Given the description of an element on the screen output the (x, y) to click on. 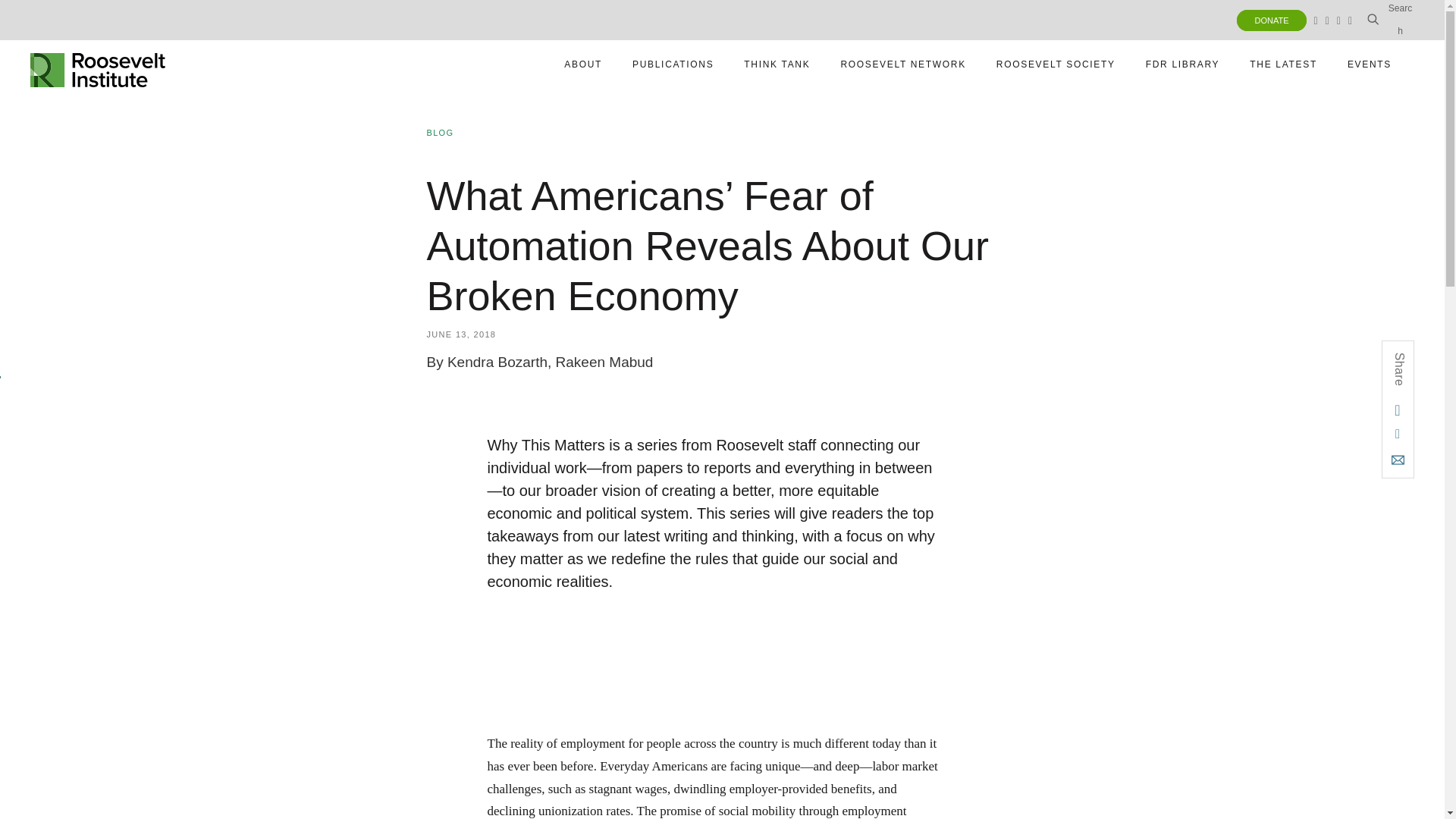
DONATE (1271, 20)
Twitter social media link (97, 64)
LinkedIn social media link (1326, 20)
ABOUT (1350, 20)
THE LATEST (583, 64)
ROOSEVELT SOCIETY (1282, 64)
ROOSEVELT NETWORK (1055, 64)
EVENTS (1390, 20)
Facebook social media link (902, 64)
PUBLICATIONS (1369, 64)
FDR LIBRARY (1315, 20)
YouTube social media link (672, 64)
THINK TANK (1182, 64)
